Given the description of an element on the screen output the (x, y) to click on. 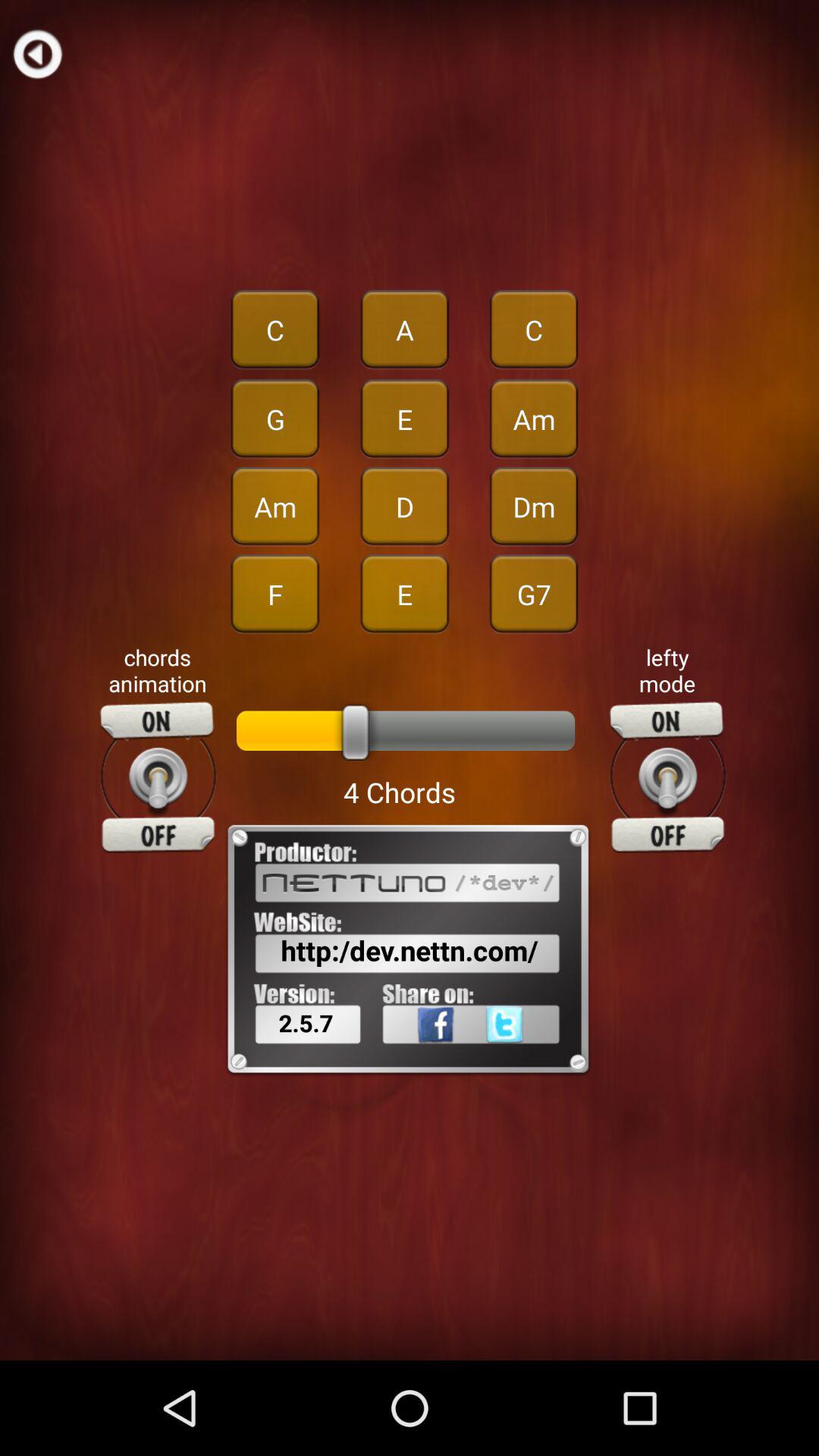
launch item below http dev nettn item (415, 1057)
